Given the description of an element on the screen output the (x, y) to click on. 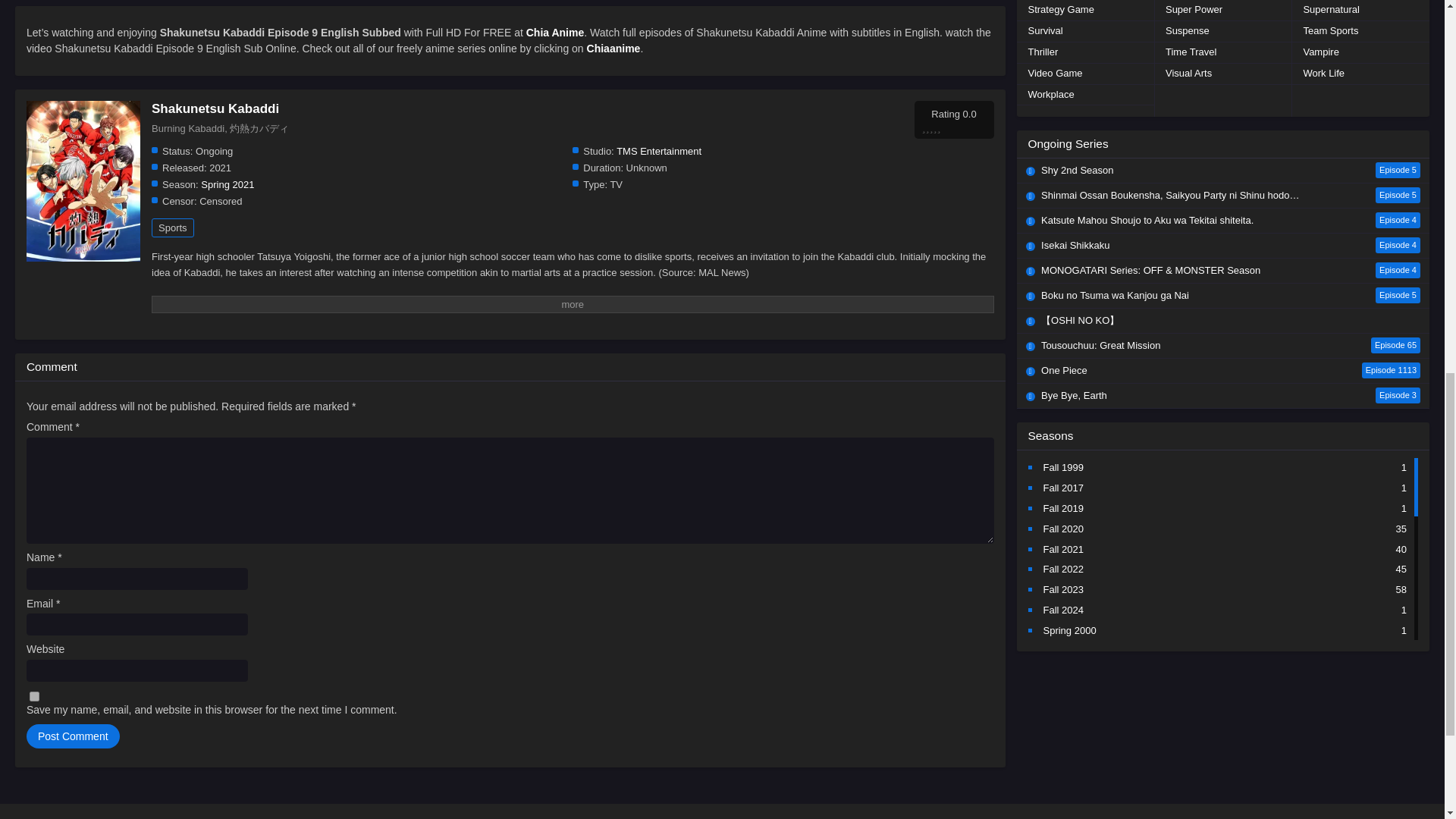
Chiaanime (613, 48)
Chia Anime (555, 32)
yes (34, 696)
Post Comment (72, 735)
Post Comment (72, 735)
Sports (172, 227)
Spring 2021 (226, 184)
TMS Entertainment (658, 151)
